Given the description of an element on the screen output the (x, y) to click on. 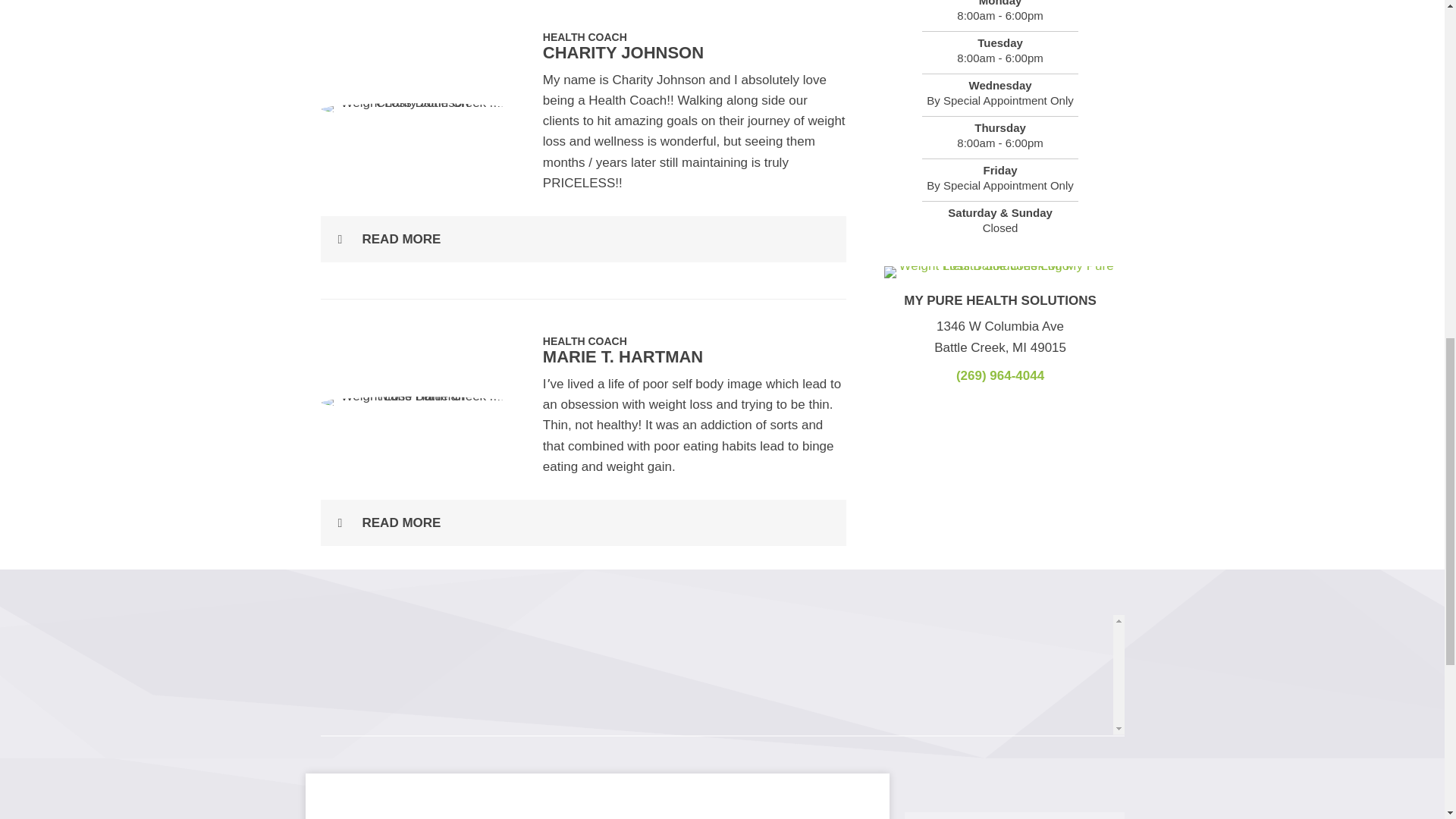
Weight Loss Battle Creek MI My Pure Health Solutions Logo (999, 272)
My Pure Health Solutions reviews (716, 671)
Weight Loss Battle Creek MI Marie Hartman (416, 402)
Weight Loss Battle Creek MI Charity Johnson (416, 109)
